Given the description of an element on the screen output the (x, y) to click on. 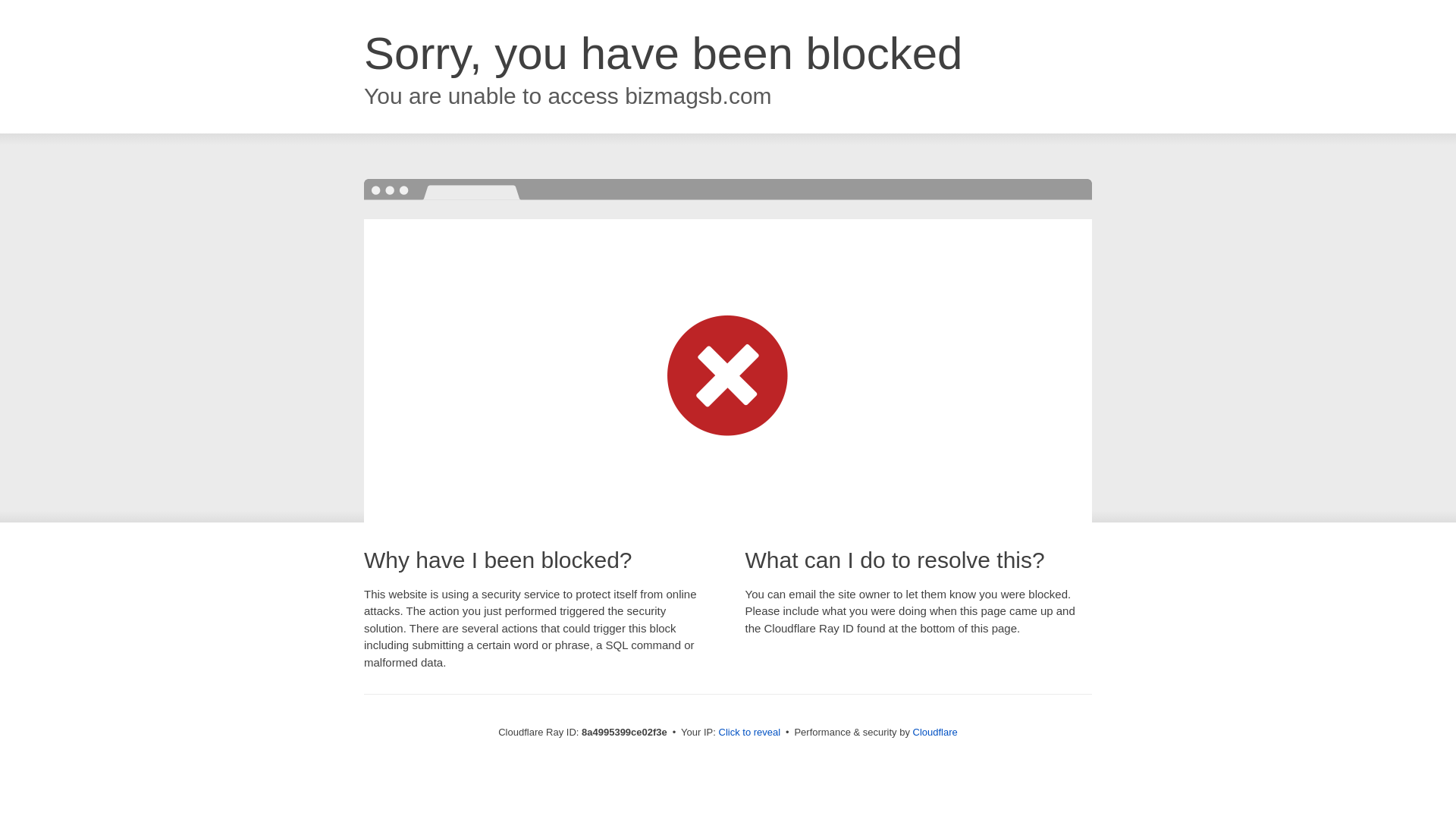
Click to reveal (749, 732)
Cloudflare (935, 731)
